Given the description of an element on the screen output the (x, y) to click on. 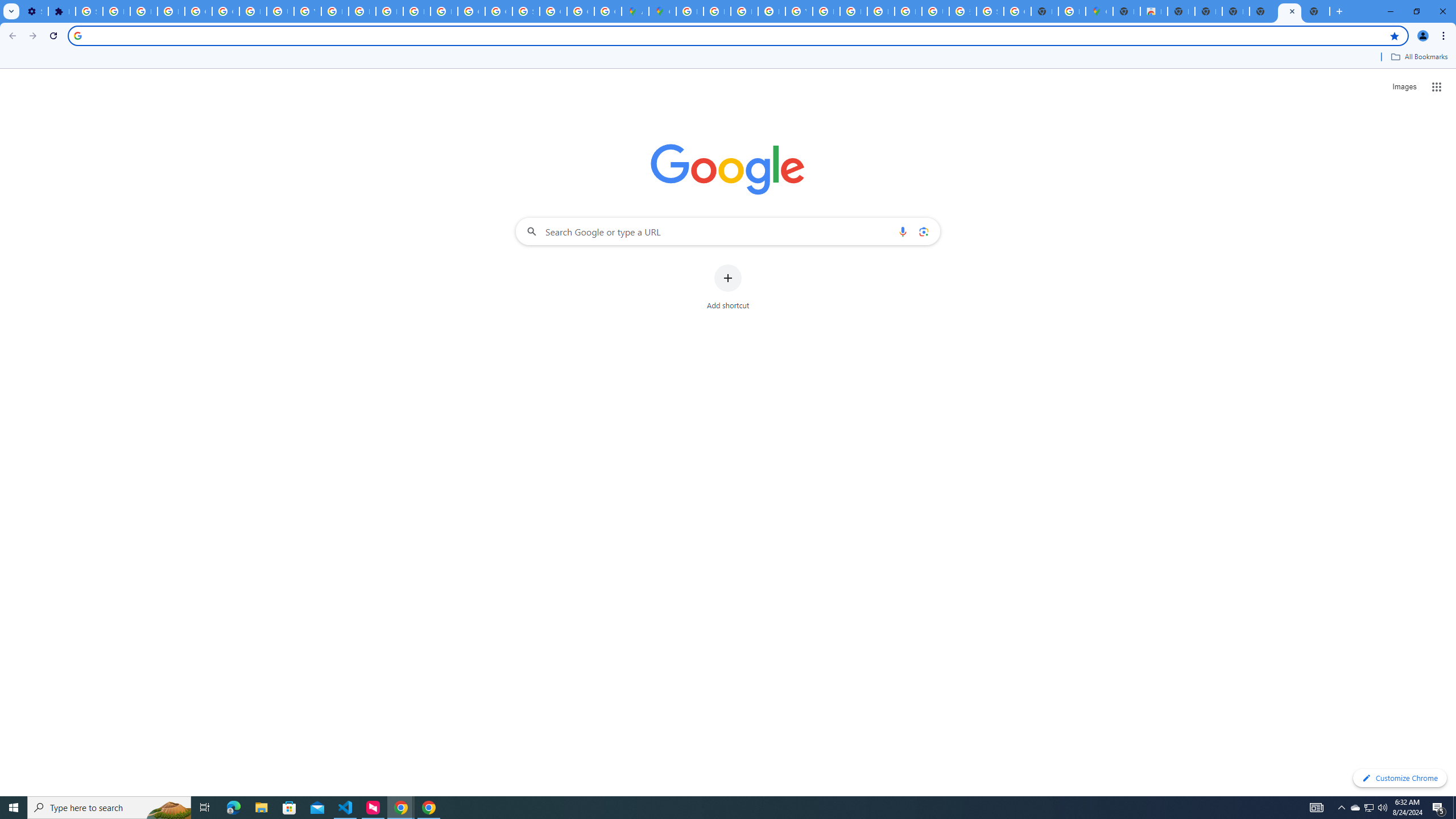
All Bookmarks (1418, 56)
Browse Chrome as a guest - Computer - Google Chrome Help (880, 11)
Search icon (77, 35)
Settings - On startup (34, 11)
https://scholar.google.com/ (334, 11)
Google Maps (1099, 11)
Google Account Help (197, 11)
Extensions (61, 11)
